Given the description of an element on the screen output the (x, y) to click on. 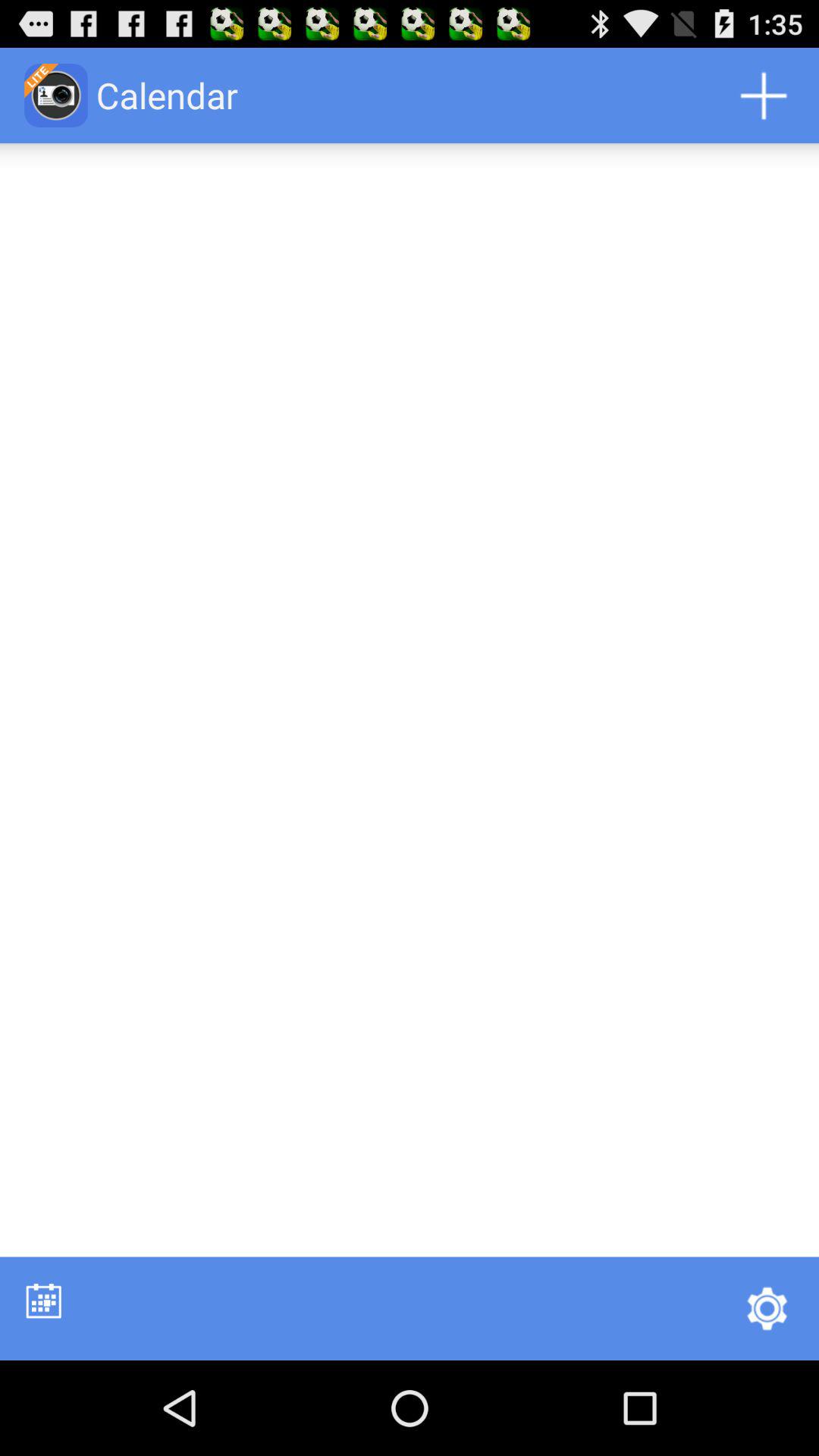
shows the calendar (43, 1300)
